Given the description of an element on the screen output the (x, y) to click on. 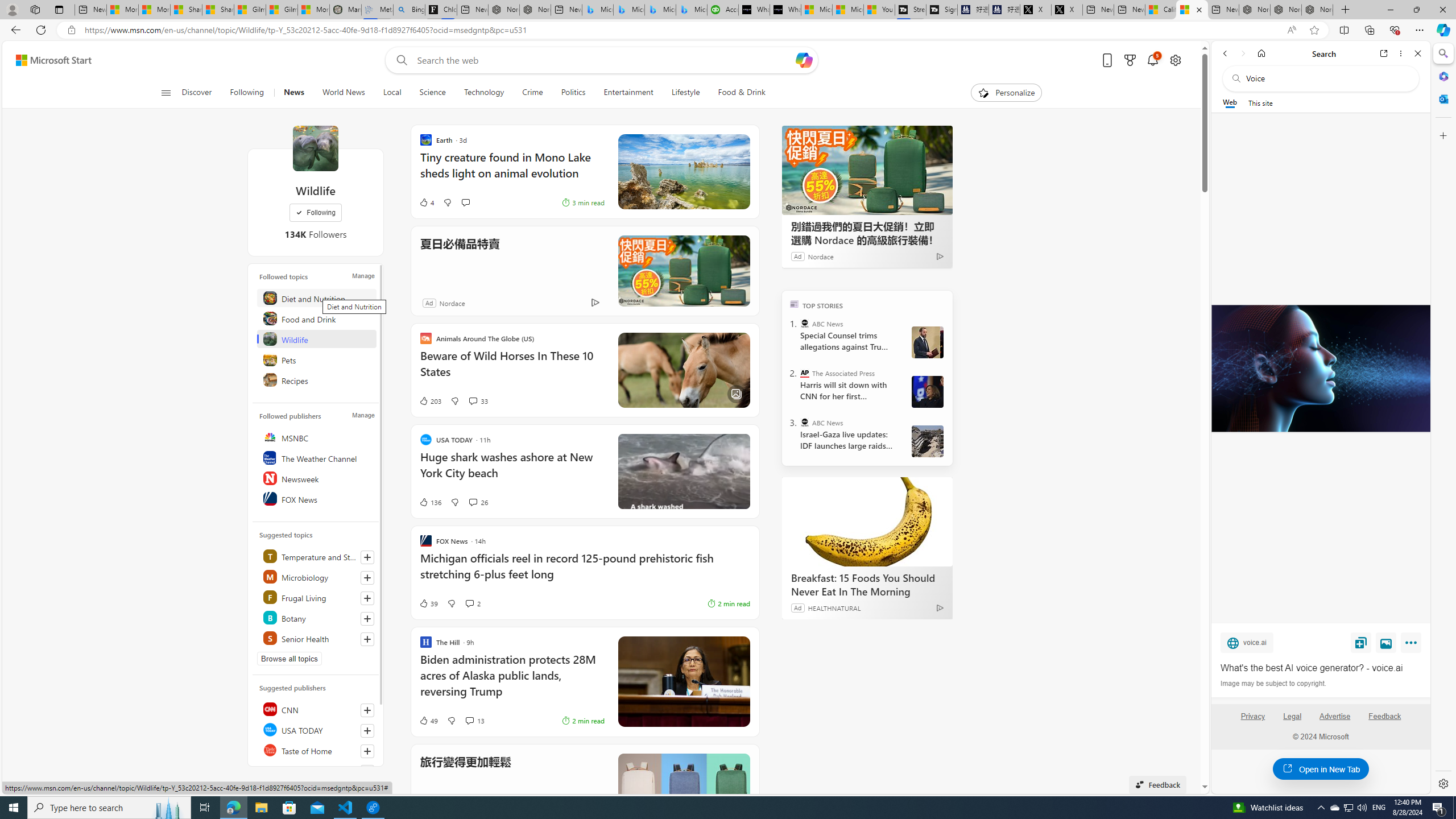
Follow this source (367, 751)
View comments 13 Comment (469, 719)
Nordace Siena Pro 15 Backpack (1285, 9)
Lifestyle (685, 92)
This site scope (1259, 102)
Browse all topics (289, 658)
Newsweek (317, 478)
